Given the description of an element on the screen output the (x, y) to click on. 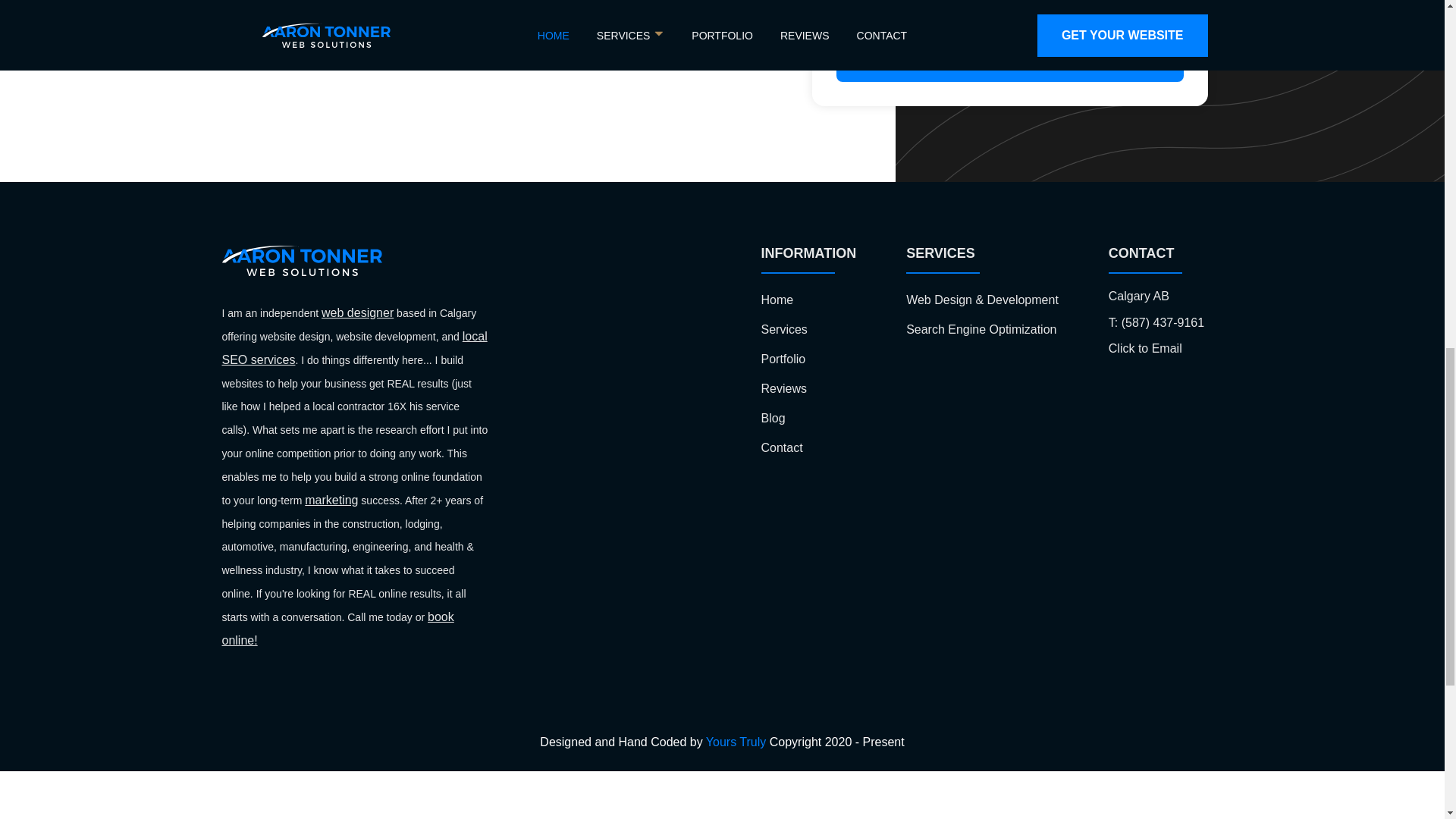
local SEO services (353, 348)
Calgary AB (1138, 296)
Search Engine Optimization (981, 328)
Reviews (783, 388)
web designer (357, 312)
Home (777, 299)
marketing (331, 499)
Services (784, 328)
Yours Truly (735, 741)
book online! (336, 628)
SEND MESSAGE (1008, 60)
Portfolio (783, 358)
Click to Email (1145, 349)
Blog (773, 418)
Contact (782, 447)
